Given the description of an element on the screen output the (x, y) to click on. 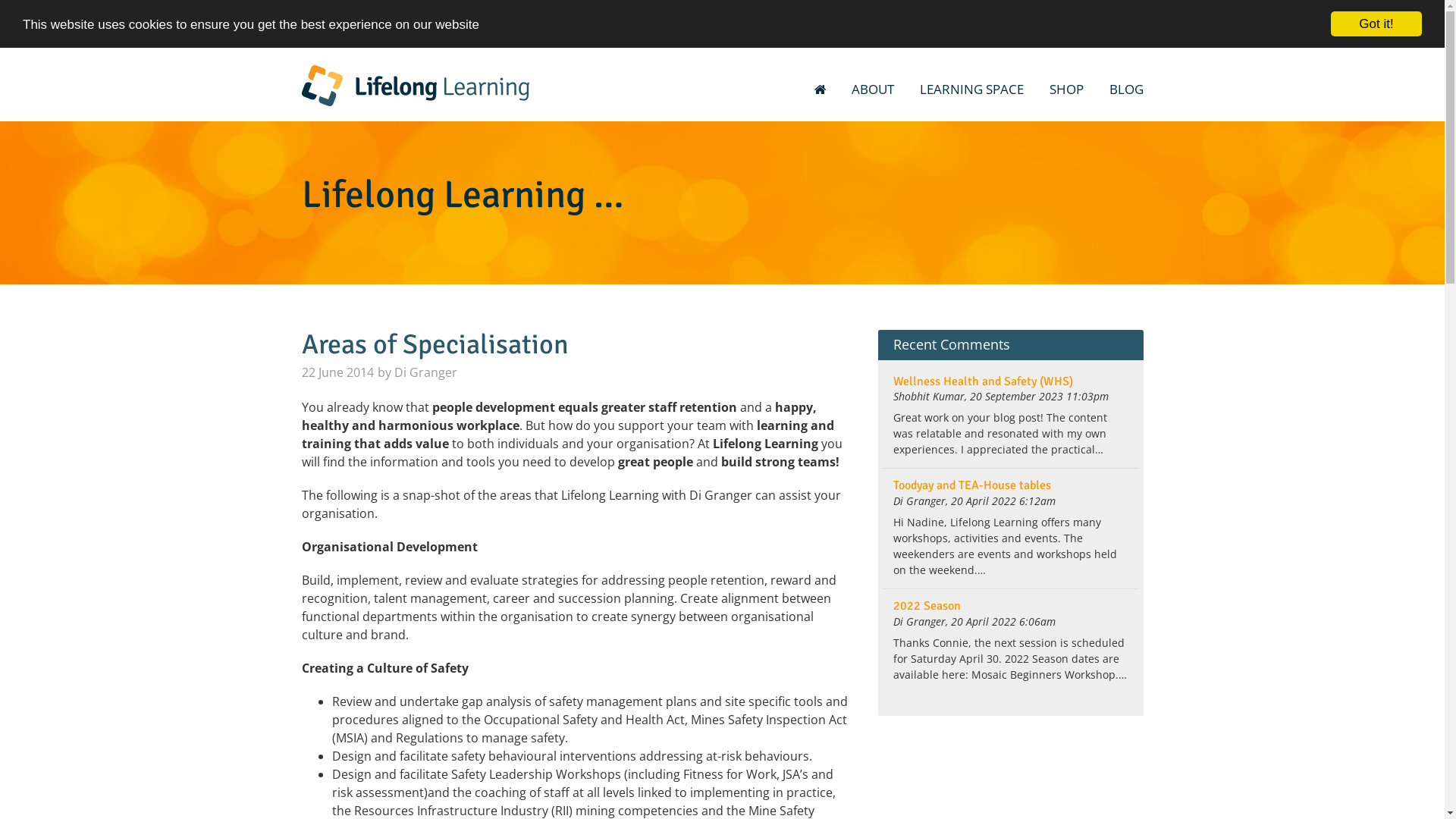
BLOG Element type: text (1123, 88)
SHOP Element type: text (1065, 88)
Di Granger Element type: text (425, 372)
Wellness Health and Safety (WHS) Element type: text (983, 381)
HOME Element type: text (819, 88)
LEARNING SPACE Element type: text (971, 88)
2022 Season Element type: text (926, 605)
ABOUT Element type: text (872, 88)
Got it! Element type: text (1375, 23)
Lifelong Learning Element type: text (415, 85)
Toodyay and TEA-House tables Element type: text (972, 484)
